Given the description of an element on the screen output the (x, y) to click on. 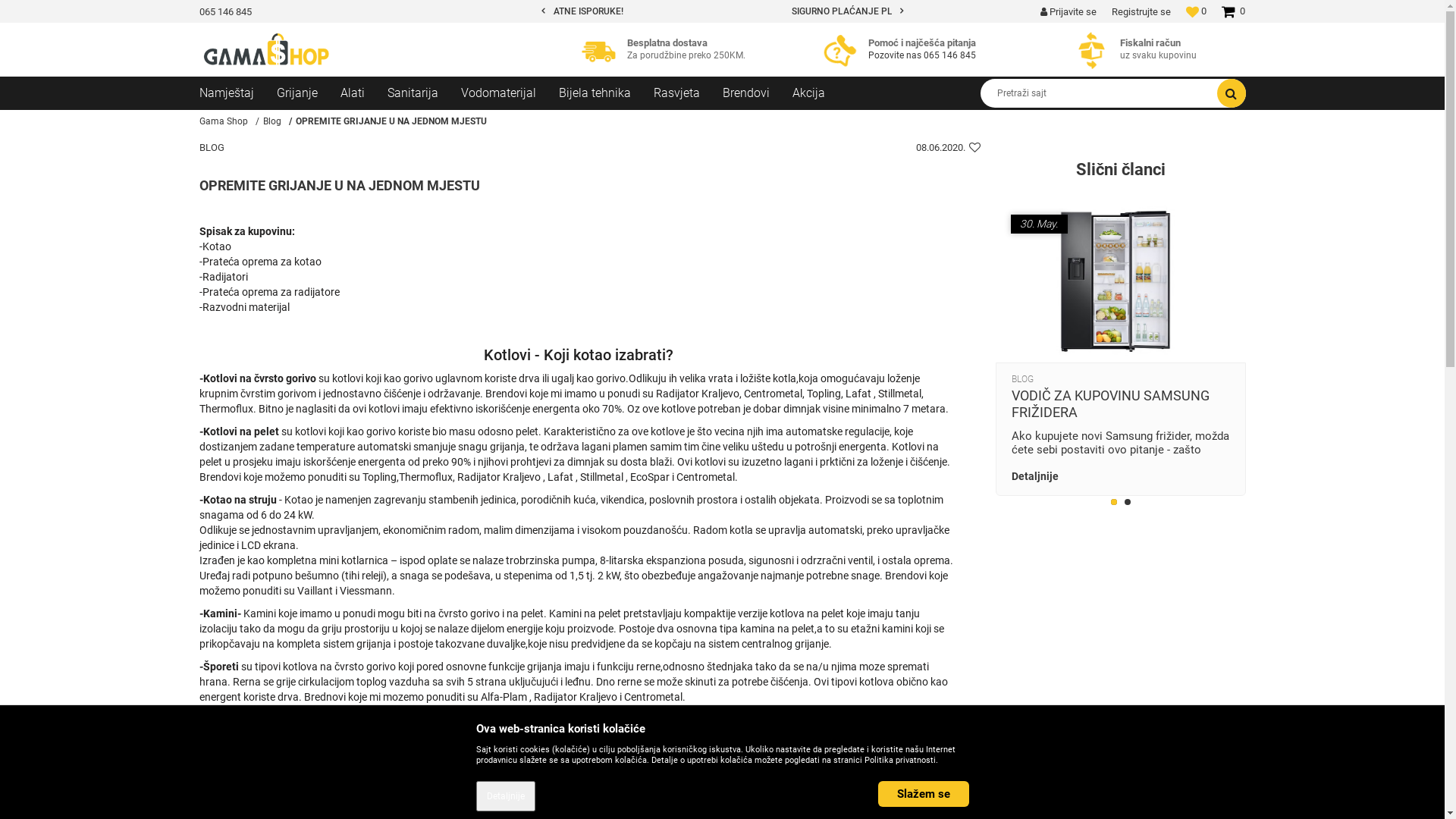
Vodomaterijal Element type: text (509, 92)
Gama Shop Element type: text (222, 121)
Alati Element type: text (362, 92)
0 Element type: text (1196, 10)
Prijavite se Element type: text (1068, 11)
Registrujte se Element type: text (1140, 11)
065 146 845 Element type: text (949, 55)
Blog Element type: text (271, 121)
Grijanje Element type: text (307, 92)
0 Element type: text (1233, 16)
1 Element type: text (1113, 502)
Pozovite nas Element type: text (895, 55)
Akcija Element type: text (819, 92)
Brendovi Element type: text (756, 92)
Sanitarija Element type: text (423, 92)
Bijela tehnika Element type: text (605, 92)
Detaljnije Element type: text (505, 795)
Besplatna dostava Element type: hover (602, 50)
Detaljnije Element type: text (1120, 475)
2 Element type: text (1127, 502)
Gama Shop Element type: hover (266, 49)
Rasvjeta Element type: text (687, 92)
065 146 845 Element type: text (224, 11)
Detaljnije Element type: text (505, 796)
